Given the description of an element on the screen output the (x, y) to click on. 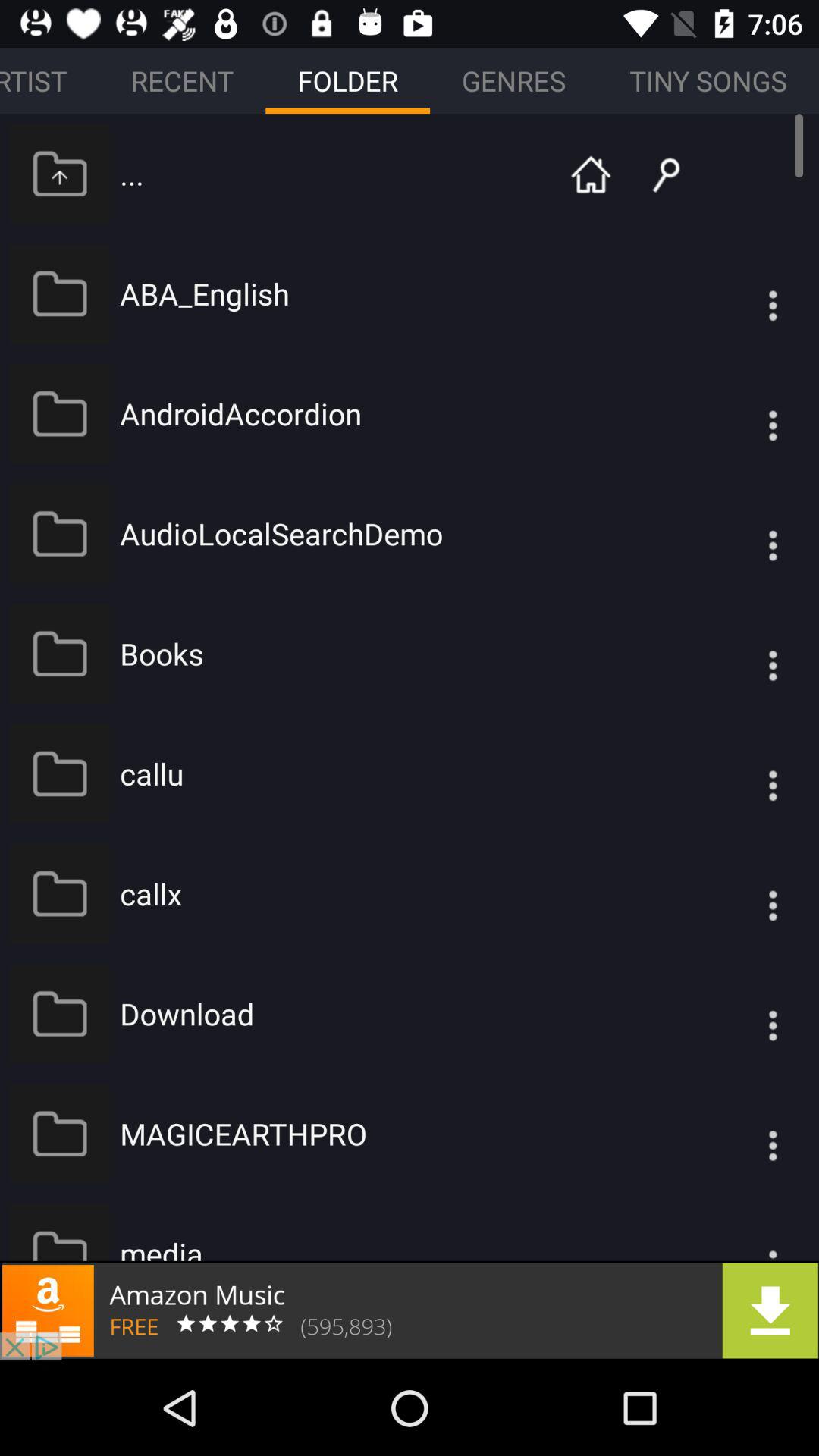
show folder options (742, 1133)
